Given the description of an element on the screen output the (x, y) to click on. 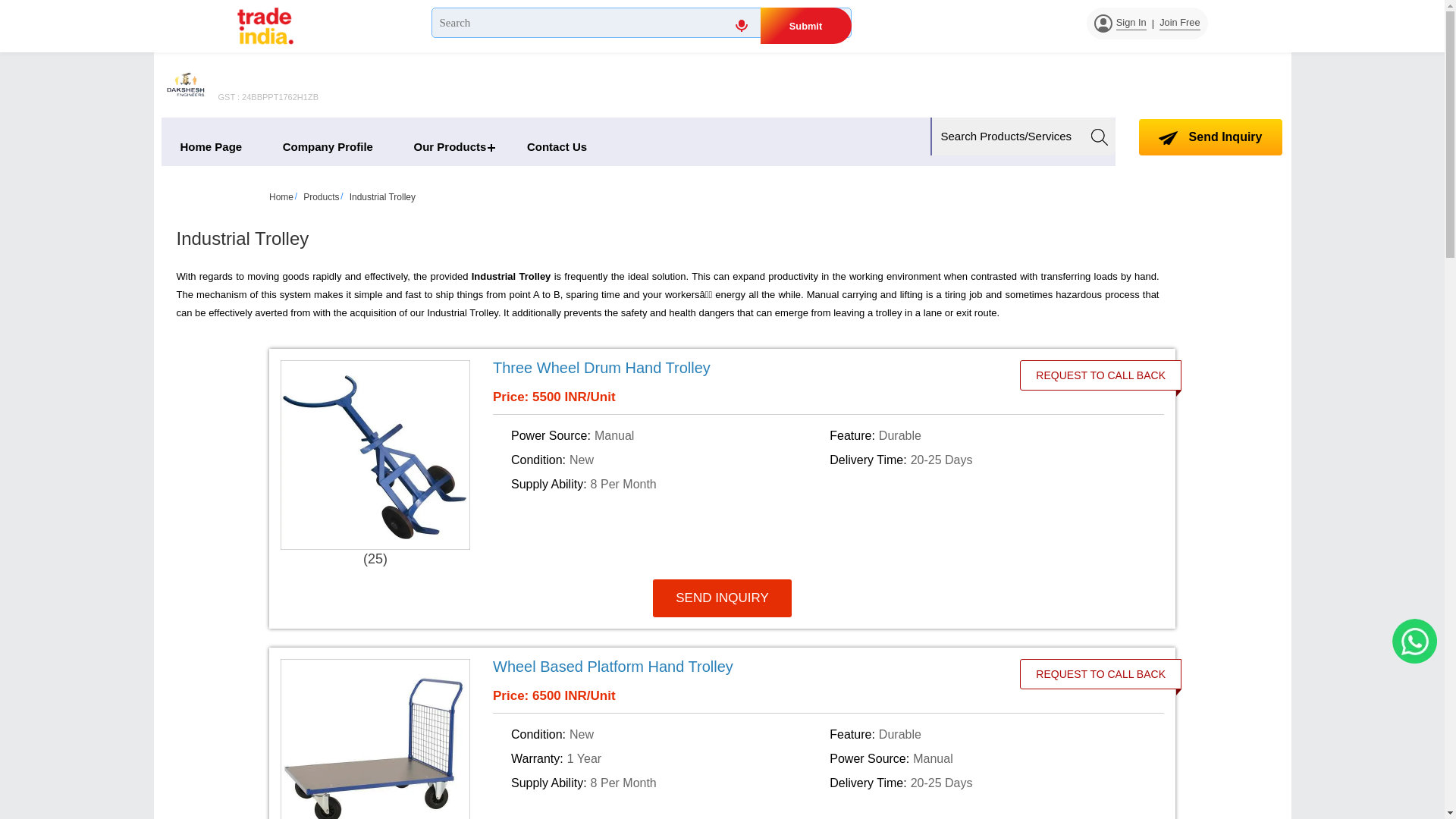
Three Wheel Drum Hand Trolley (761, 367)
Products (320, 195)
Submit (805, 25)
Power Source: Manual (985, 758)
Supply Ability: 8 Per Month (667, 484)
Our Products (449, 146)
REQUEST TO CALL BACK (1100, 674)
Send Inquiry (1167, 137)
Company Profile (327, 146)
Wheel Based Platform Hand Trolley (613, 666)
